Given the description of an element on the screen output the (x, y) to click on. 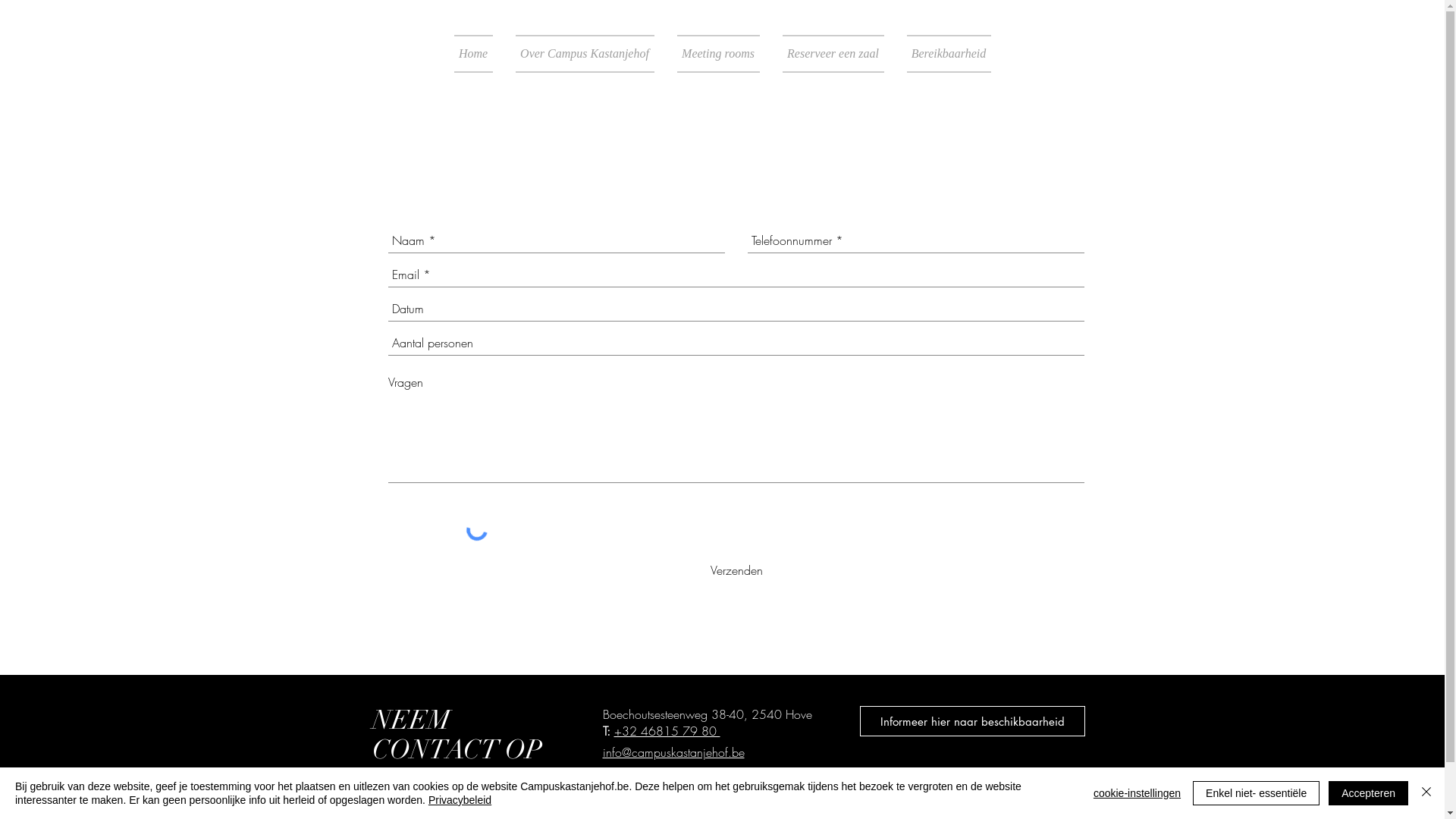
info@campuskastanjehof.be Element type: text (672, 751)
Home Element type: text (478, 53)
Over Campus Kastanjehof Element type: text (584, 53)
Reserveer een zaal Element type: text (832, 53)
Accepteren Element type: text (1368, 793)
Verzenden Element type: text (735, 569)
+32 46815 79 80  Element type: text (667, 730)
Informeer hier naar beschikbaarheid Element type: text (972, 721)
Bereikbaarheid Element type: text (942, 53)
Privacybeleid Element type: text (459, 799)
Meeting rooms Element type: text (718, 53)
